Given the description of an element on the screen output the (x, y) to click on. 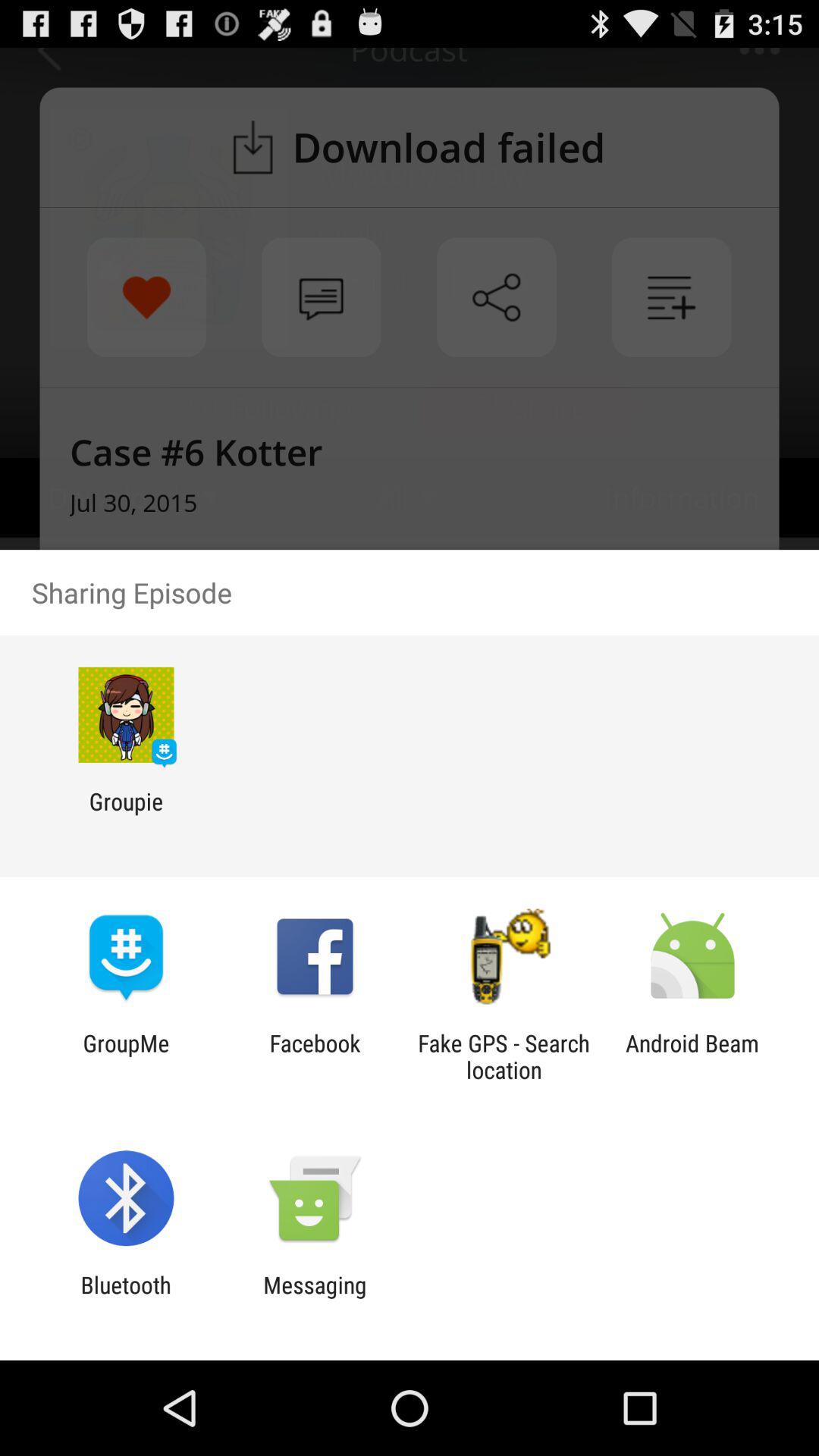
press item next to the bluetooth (314, 1298)
